Given the description of an element on the screen output the (x, y) to click on. 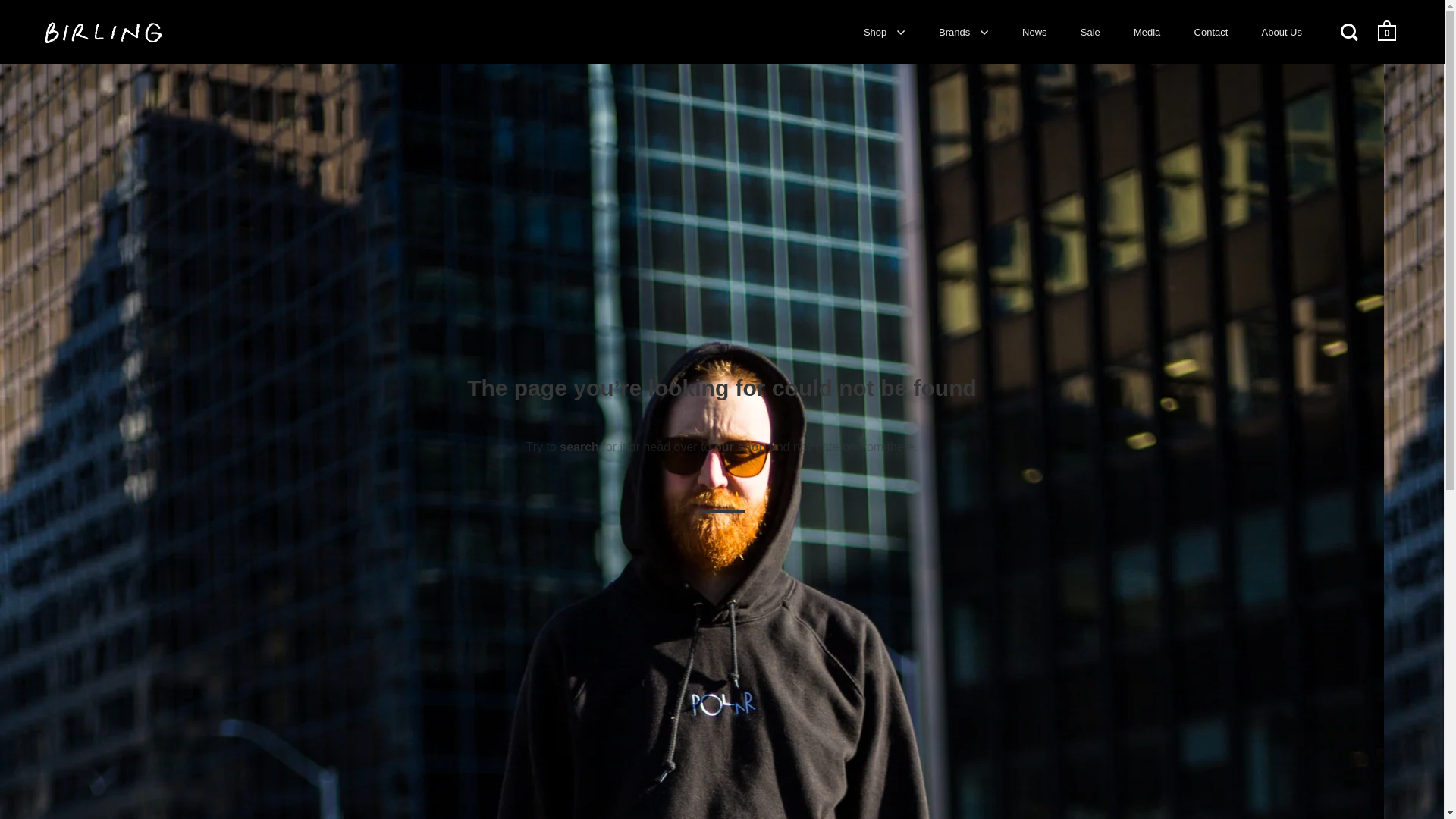
Shop (884, 31)
Open cart (1387, 30)
Open search (1350, 31)
